Given the description of an element on the screen output the (x, y) to click on. 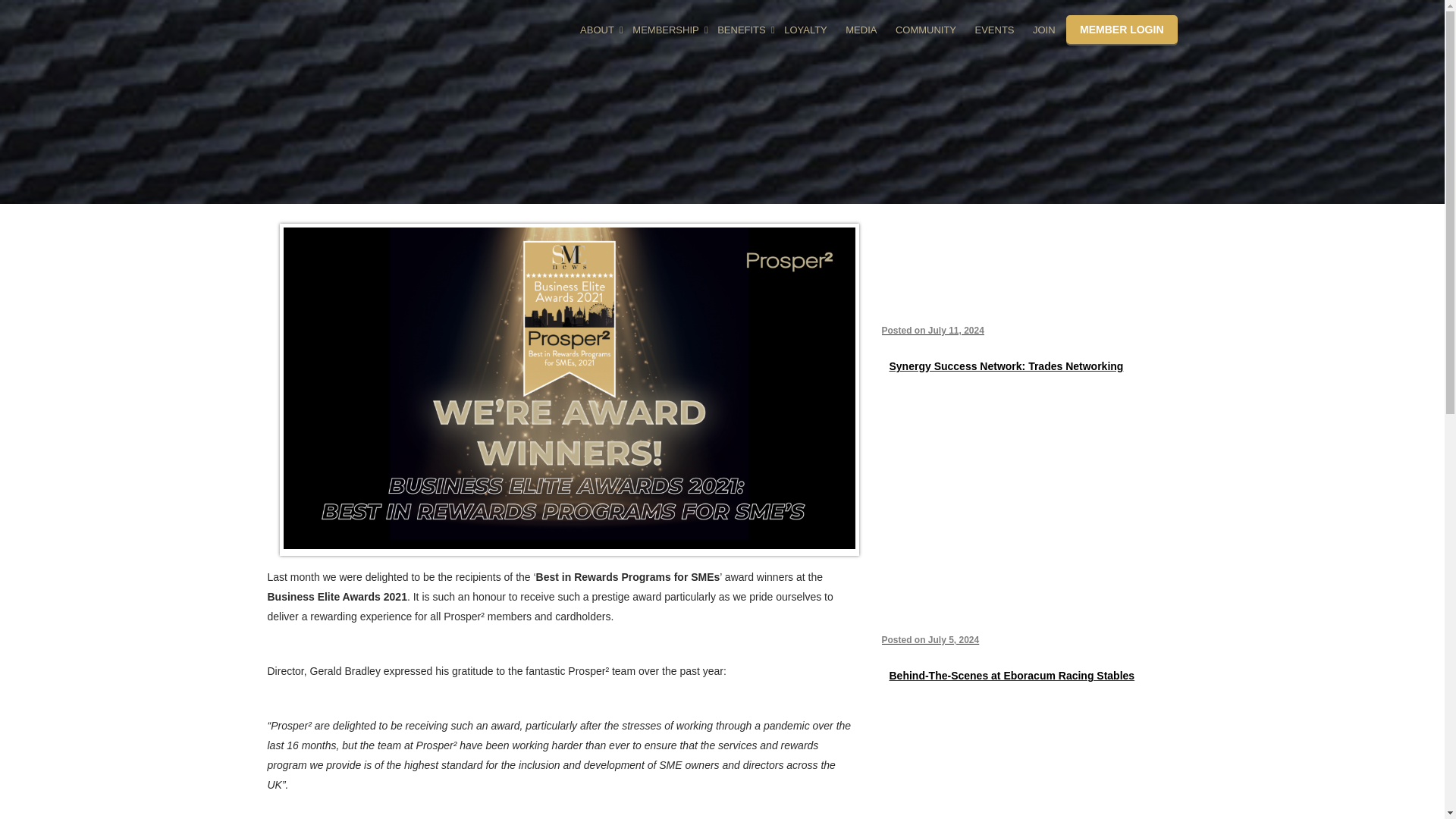
COMMUNITY (925, 29)
EVENTS (995, 29)
MEMBERSHIP (665, 29)
MEMBER LOGIN (1120, 29)
LOYALTY (805, 29)
BENEFITS (741, 29)
ABOUT (596, 29)
MEDIA (860, 29)
JOIN (1043, 29)
